Given the description of an element on the screen output the (x, y) to click on. 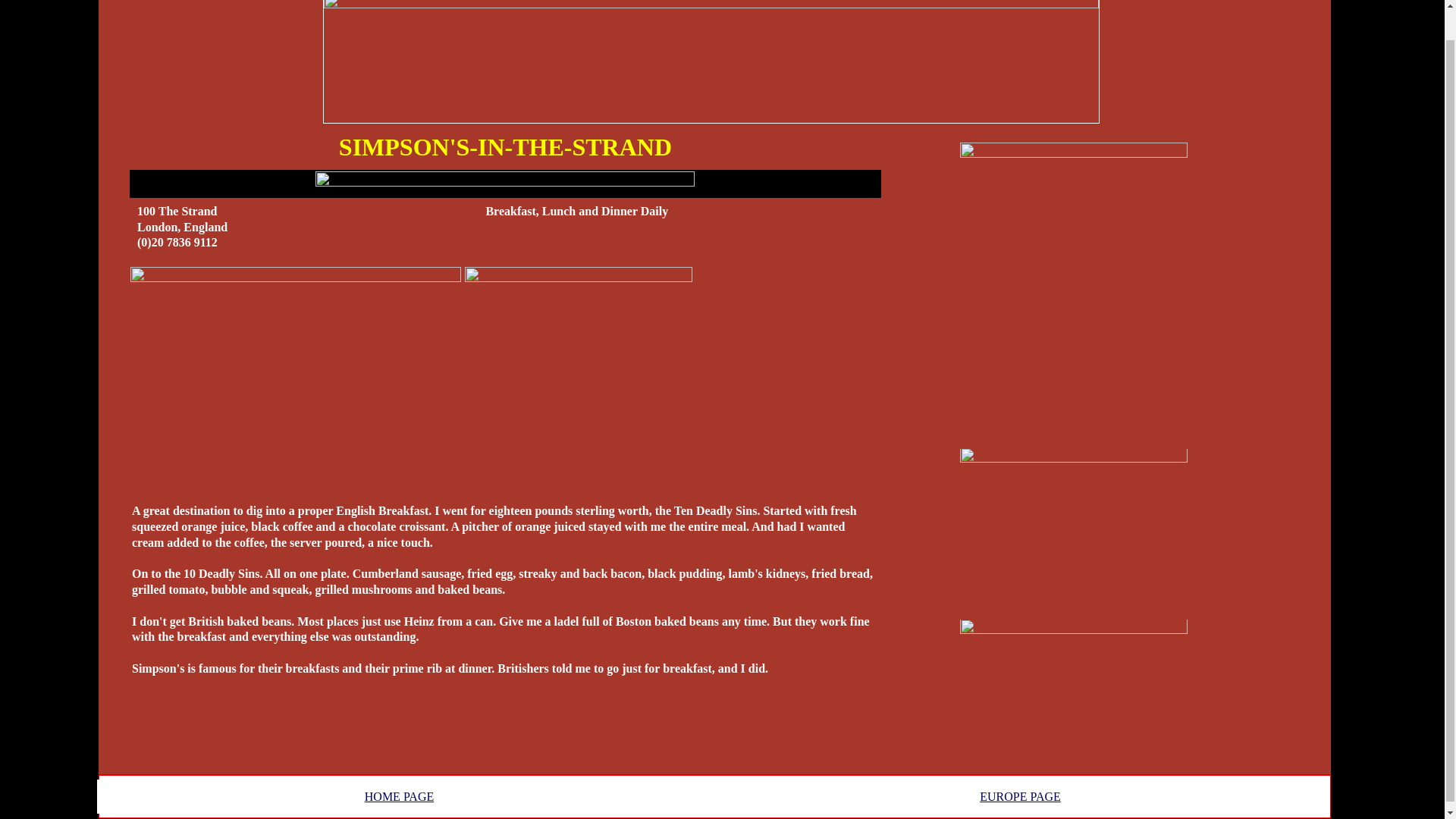
HE-Logo-red (710, 61)
EUROPE PAGE (1019, 796)
Simpsons-Menu (1073, 692)
5 Stain (504, 183)
Simpsons-DiningRoom (1073, 531)
Simpsons-Table (578, 342)
HOME PAGE (399, 796)
Simpsons-Breakfast (296, 377)
